Given the description of an element on the screen output the (x, y) to click on. 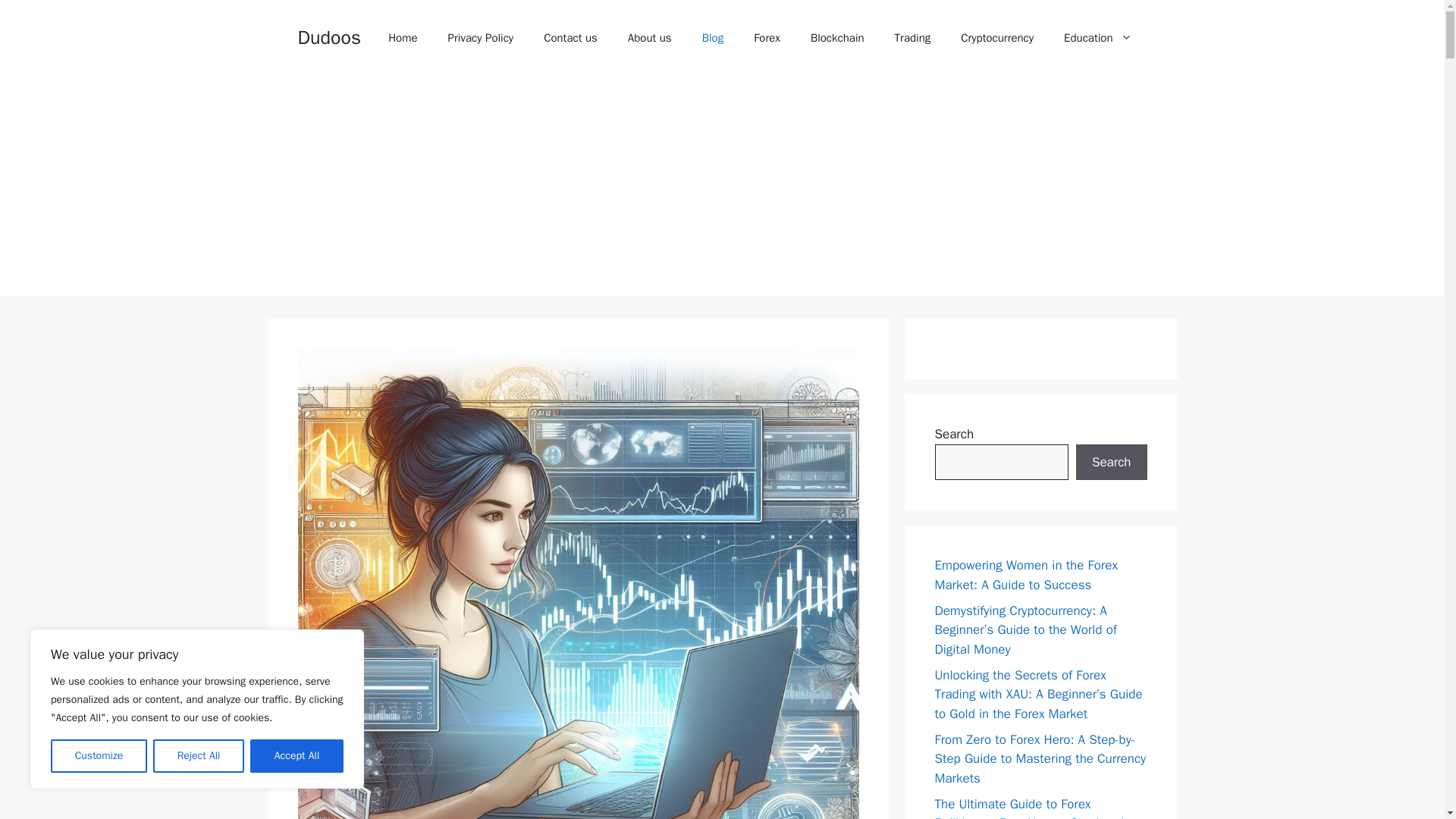
Home (402, 37)
Dudoos (328, 37)
Education (1097, 37)
Forex (766, 37)
Contact us (570, 37)
Trading (912, 37)
Cryptocurrency (996, 37)
Customize (98, 756)
Search (1111, 462)
Privacy Policy (480, 37)
Empowering Women in the Forex Market: A Guide to Success (1025, 574)
Blog (712, 37)
Reject All (198, 756)
Accept All (296, 756)
Blockchain (836, 37)
